Given the description of an element on the screen output the (x, y) to click on. 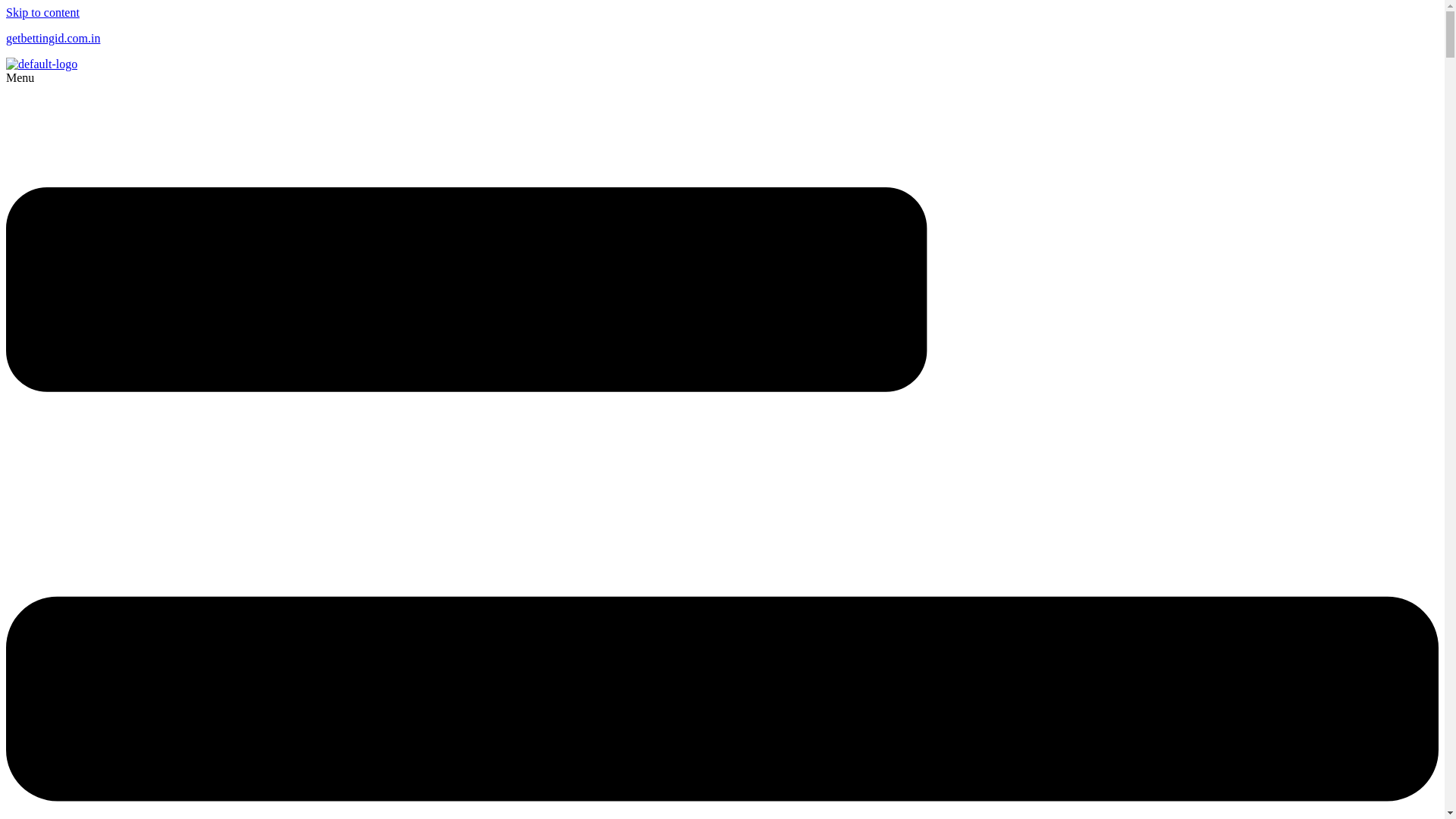
Skip to content (42, 11)
getbettingid.com.in (52, 38)
getbettingid.com.in (52, 38)
Skip to content (42, 11)
